Given the description of an element on the screen output the (x, y) to click on. 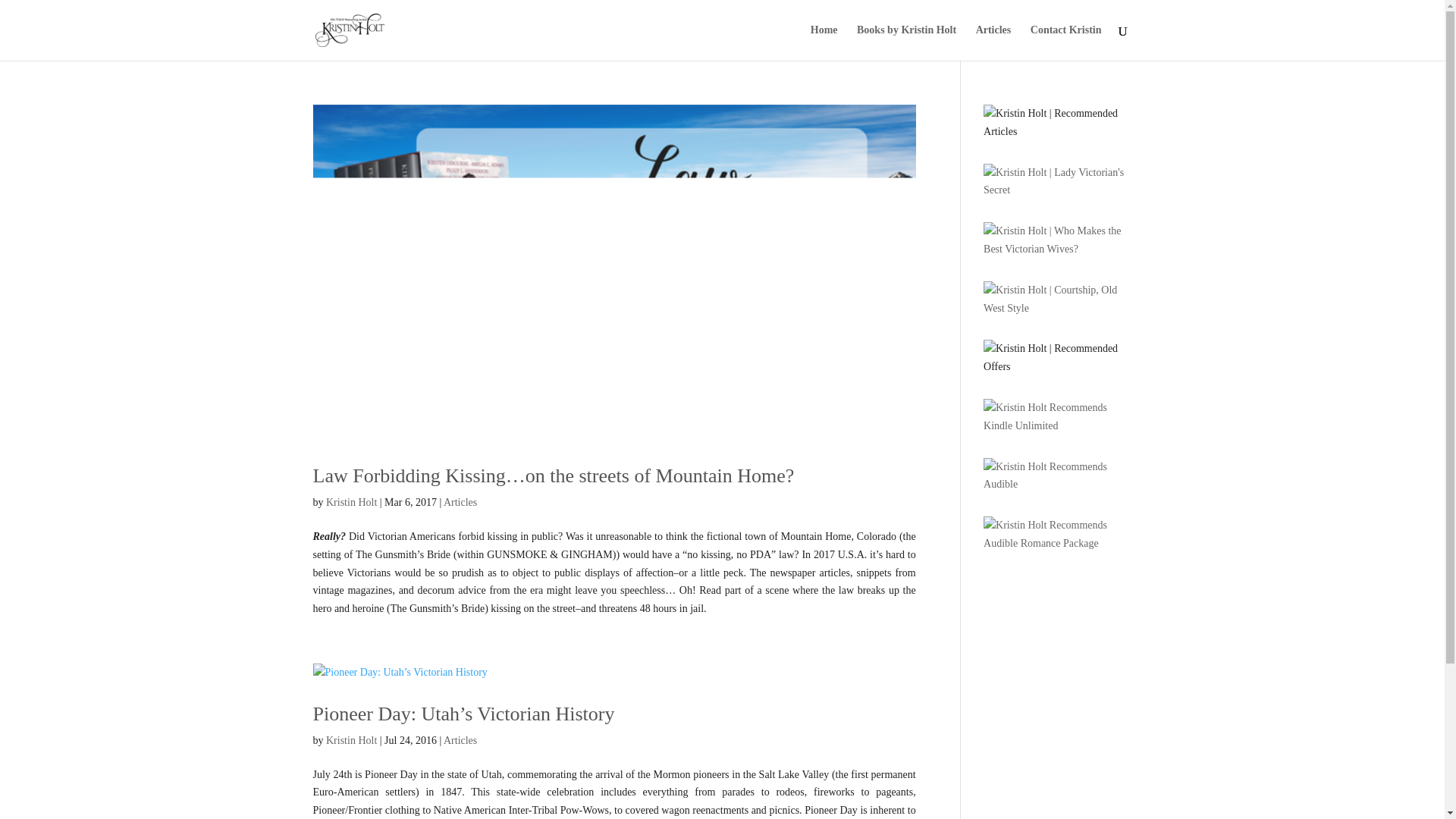
Kristin Holt (351, 740)
Posts by Kristin Holt (351, 740)
Posts by Kristin Holt (351, 501)
Kristin Holt (351, 501)
Books by Kristin Holt (906, 42)
Articles (993, 42)
Articles (460, 501)
Articles (460, 740)
Contact Kristin (1066, 42)
